Given the description of an element on the screen output the (x, y) to click on. 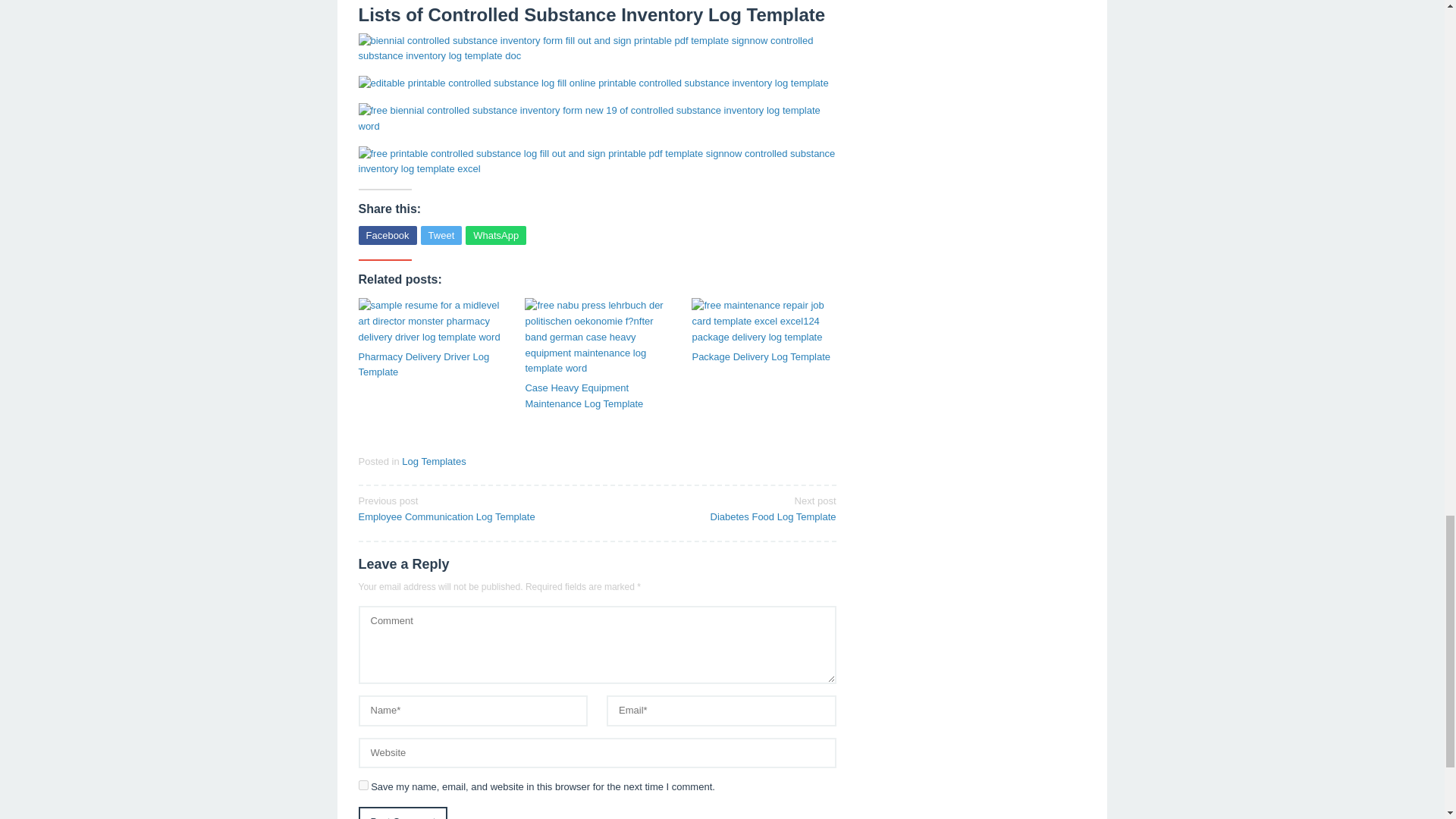
Permalink to: Package Delivery Log Template (763, 321)
WhatsApp (495, 235)
Tweet this (441, 235)
Post Comment (402, 812)
Log Templates (433, 460)
WhatsApp this (495, 235)
yes (721, 507)
Post Comment (363, 785)
Permalink to: Pharmacy Delivery Driver Log Template (402, 812)
